Given the description of an element on the screen output the (x, y) to click on. 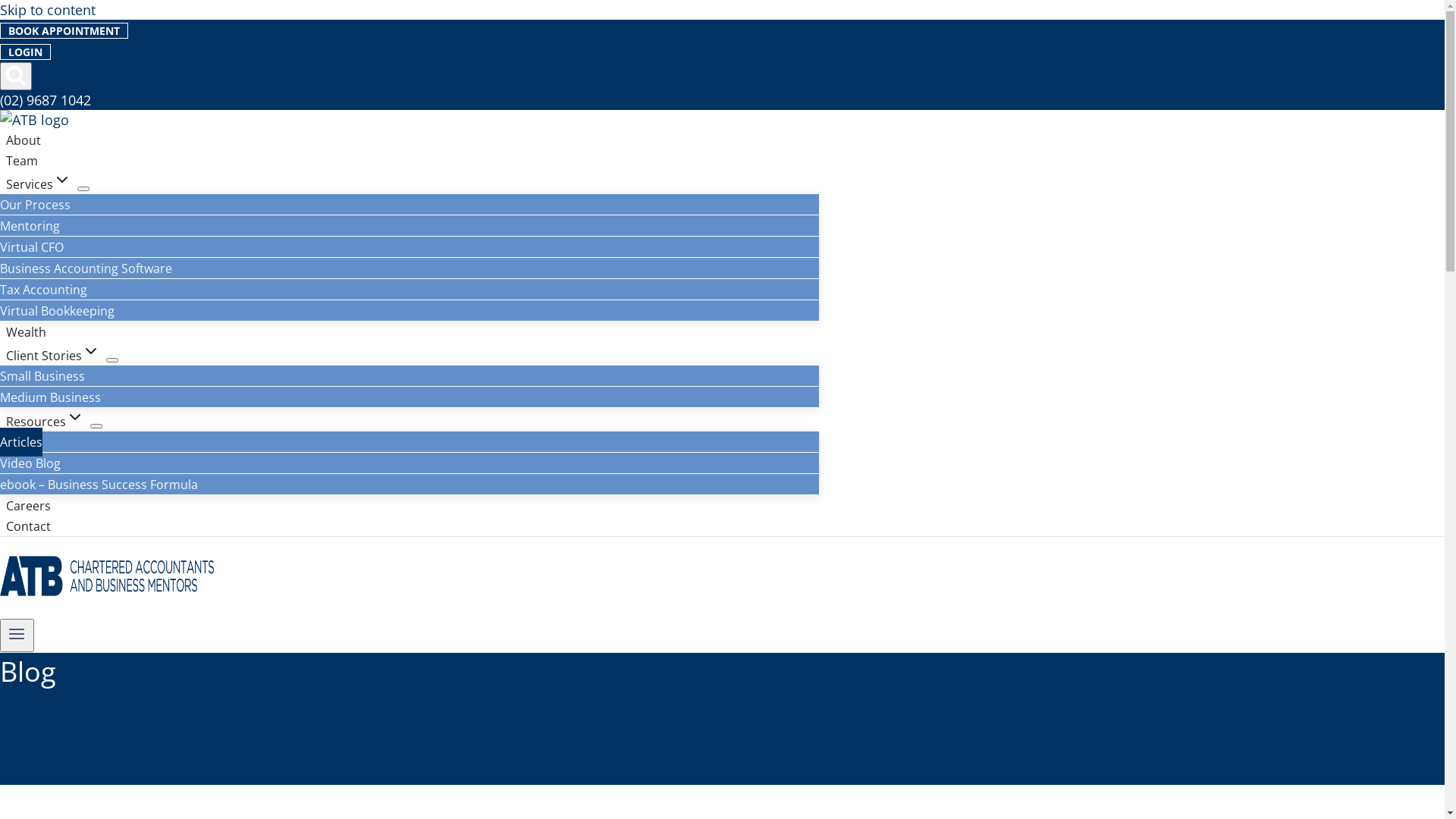
Tax Accounting Element type: text (43, 289)
BOOK APPOINTMENT Element type: text (64, 30)
LOGIN Element type: text (25, 51)
Medium Business Element type: text (50, 396)
(02) 9687 1042 Element type: text (45, 100)
Our Process Element type: text (35, 204)
Business Accounting Software Element type: text (86, 268)
ServicesExpand Element type: text (38, 183)
ResourcesExpand Element type: text (45, 420)
Virtual Bookkeeping Element type: text (57, 310)
Articles Element type: text (21, 441)
Careers Element type: text (28, 504)
Virtual CFO Element type: text (31, 246)
Small Business Element type: text (42, 375)
Search Element type: text (15, 76)
About Element type: text (23, 139)
Toggle Menu Element type: text (17, 635)
SEND Element type: text (755, 424)
Video Blog Element type: text (30, 462)
Skip to content Element type: text (47, 9)
Client StoriesExpand Element type: text (53, 354)
Wealth Element type: text (26, 331)
Team Element type: text (21, 159)
Contact Element type: text (28, 525)
Mentoring Element type: text (29, 225)
